Given the description of an element on the screen output the (x, y) to click on. 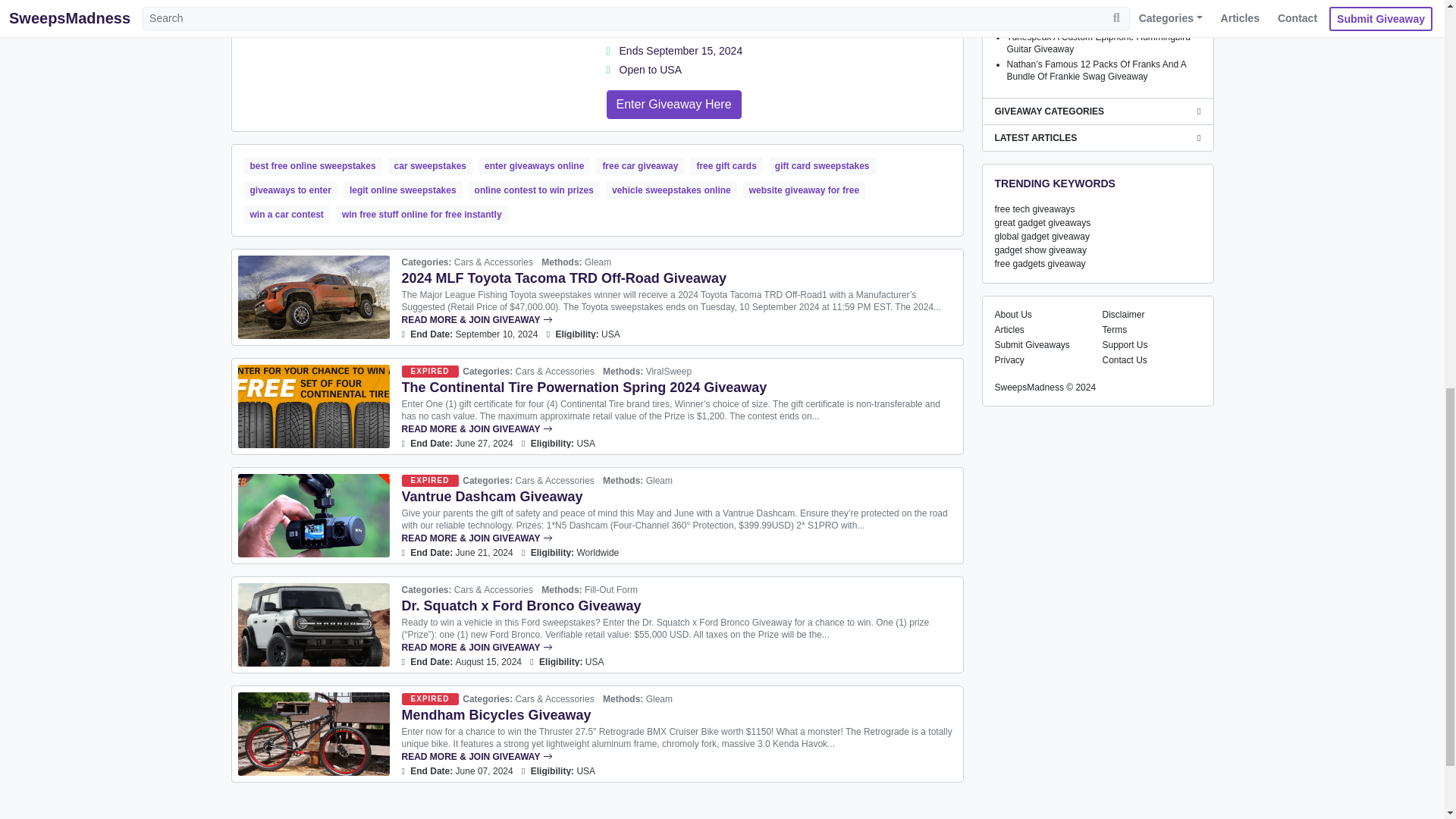
free car giveaway (639, 166)
free gift cards (725, 166)
enter giveaways online (534, 166)
giveaways to enter (290, 189)
2024 MLF Toyota Tacoma TRD Off-Road Giveaway (563, 278)
The Continental Tire Powernation Spring 2024 Giveaway (584, 387)
2024 MLF Toyota Tacoma TRD Off-Road Giveaway (314, 297)
Enter Giveaway Here (674, 104)
Hy-Vee Corvette Giveaway (674, 104)
car sweepstakes (429, 166)
gift card sweepstakes (822, 166)
2024 MLF Toyota Tacoma TRD Off-Road Giveaway (678, 319)
The Continental Tire Powernation Spring 2024 Giveaway (314, 405)
best free online sweepstakes (312, 166)
